Given the description of an element on the screen output the (x, y) to click on. 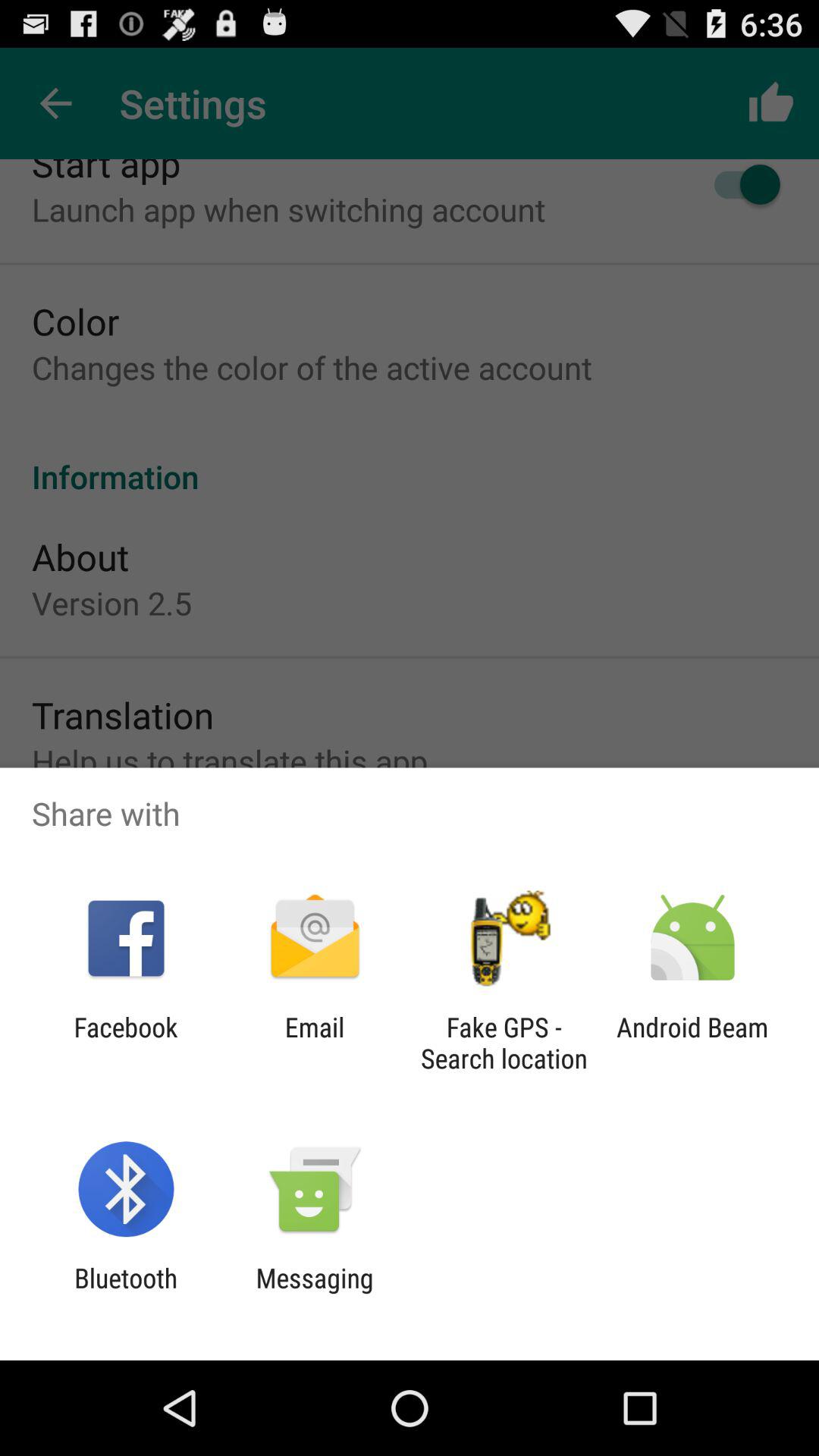
choose item to the right of fake gps search icon (692, 1042)
